Given the description of an element on the screen output the (x, y) to click on. 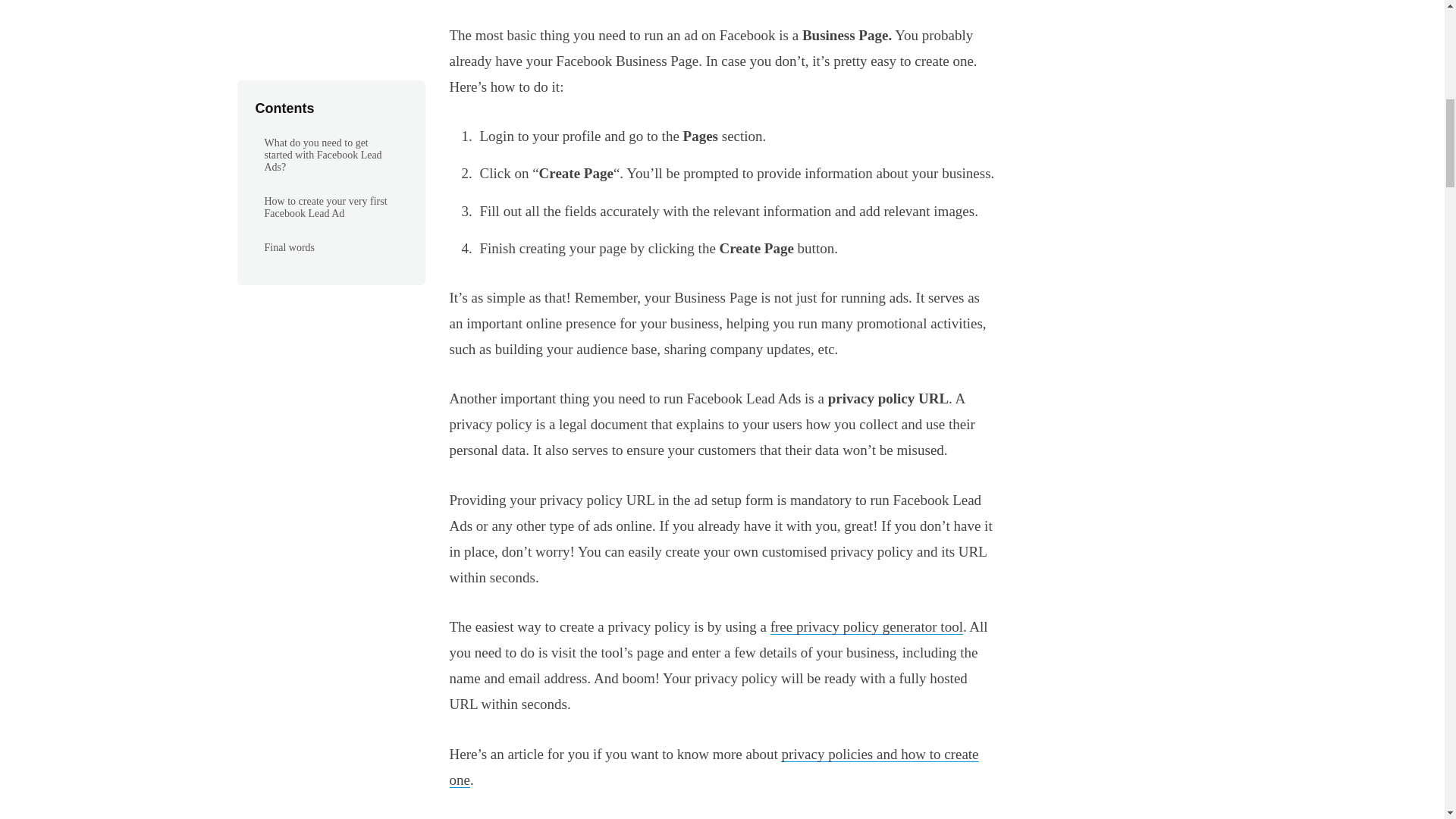
privacy policies and how to create one (713, 766)
What do you need to get started with Facebook Lead Ads? (721, 5)
free privacy policy generator tool (866, 626)
